Given the description of an element on the screen output the (x, y) to click on. 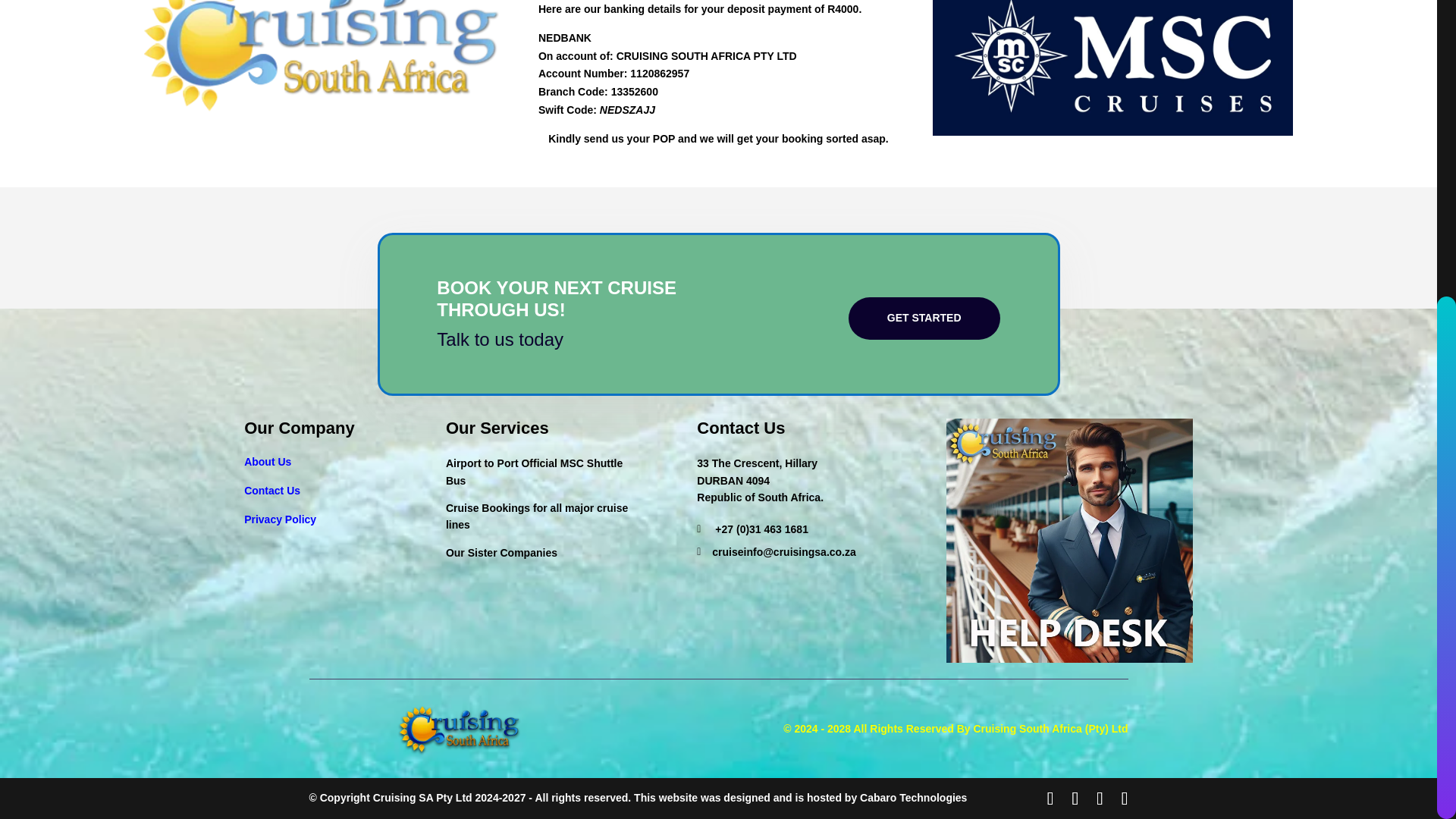
GET STARTED (924, 318)
Cabaro Technologies (913, 797)
MSC-LOGO-1 (1112, 67)
Questions? Get answers through our new HELP DESK! (1069, 540)
About Us (267, 461)
Logo from hugh (459, 728)
Privacy Policy (279, 519)
CSA-LOGO-with-layers-and-no-dw-holding-400-wide (323, 58)
Contact Us (271, 490)
Our Sister Companies (501, 552)
